Given the description of an element on the screen output the (x, y) to click on. 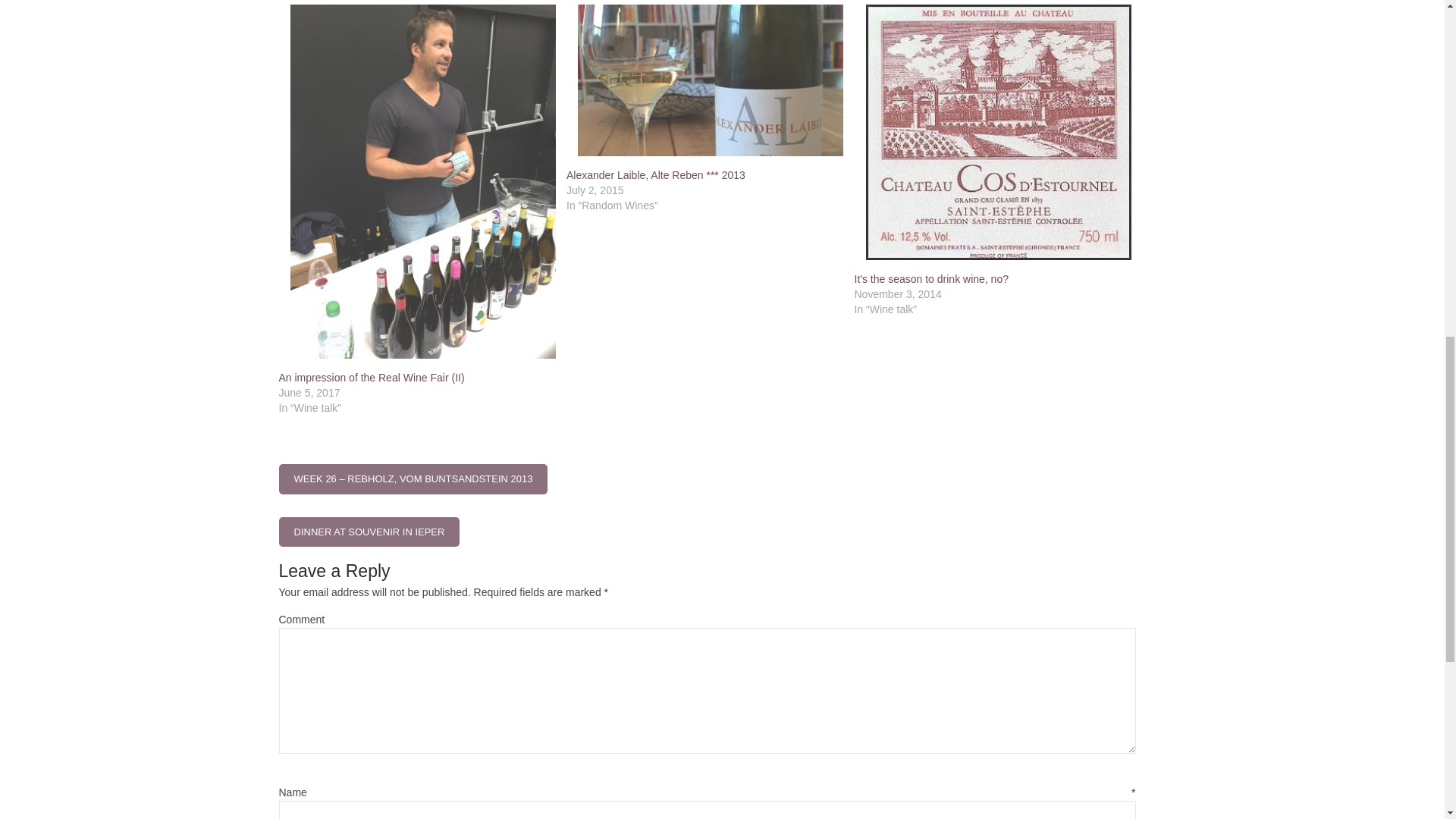
It's the season to drink wine, no? (930, 278)
DINNER AT SOUVENIR IN IEPER (369, 531)
